Given the description of an element on the screen output the (x, y) to click on. 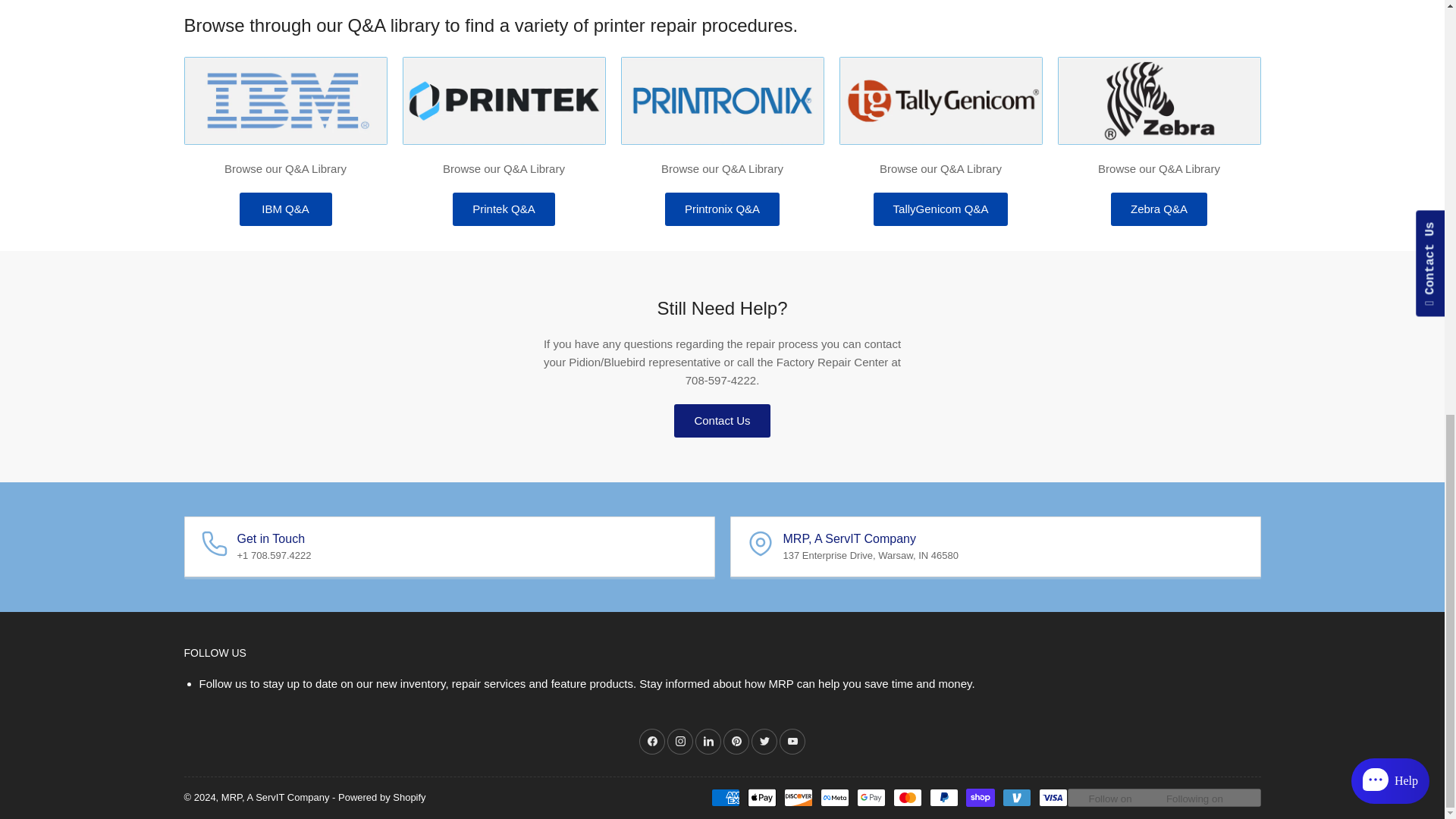
Google Pay (871, 797)
American Express (725, 797)
Apple Pay (762, 797)
Meta Pay (834, 797)
Discover (798, 797)
helpdesk-channel-iframe (1288, 134)
